Given the description of an element on the screen output the (x, y) to click on. 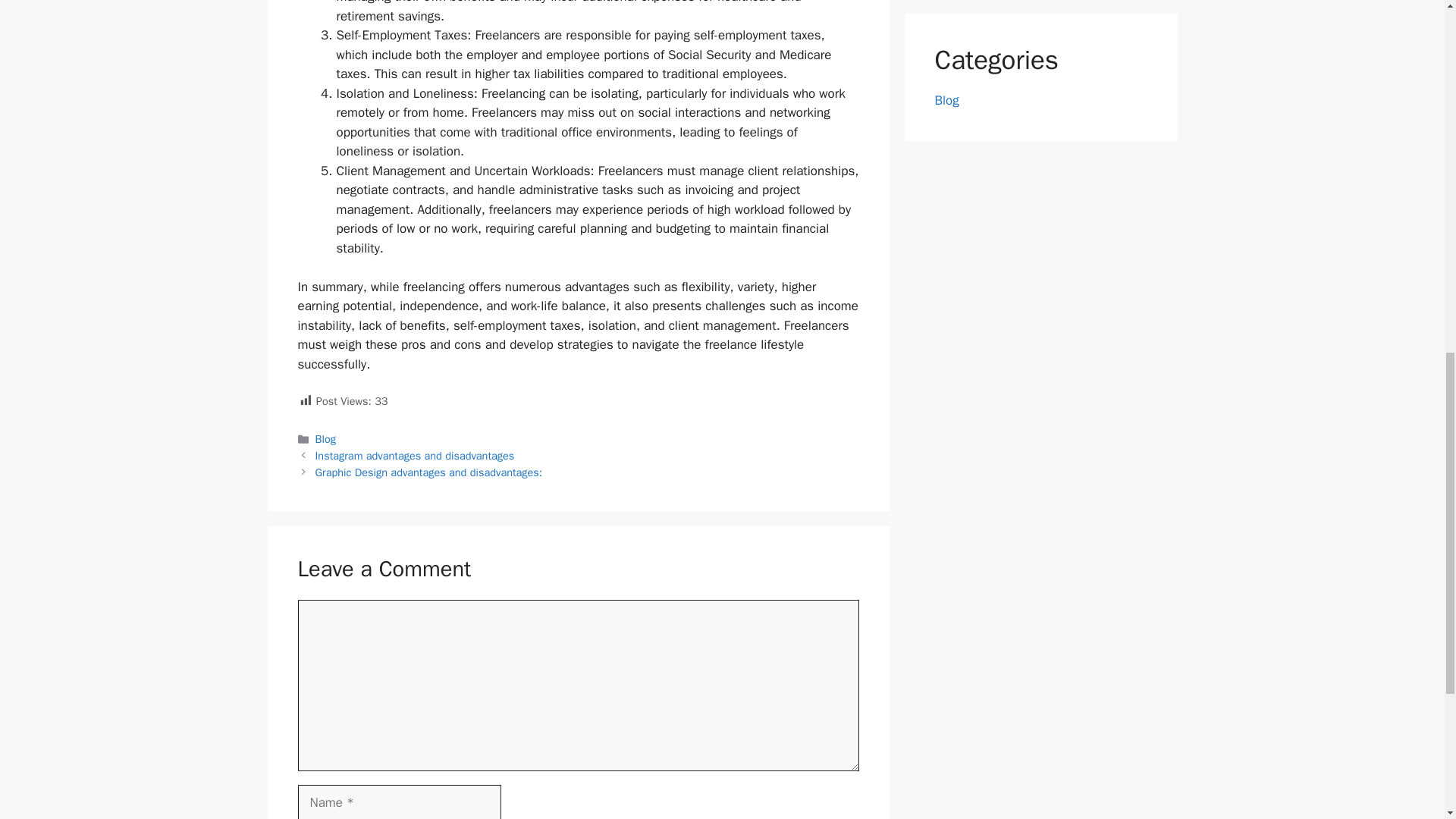
Graphic Design advantages and disadvantages: (429, 472)
Blog (946, 100)
Instagram advantages and disadvantages (415, 455)
Blog (325, 438)
